Given the description of an element on the screen output the (x, y) to click on. 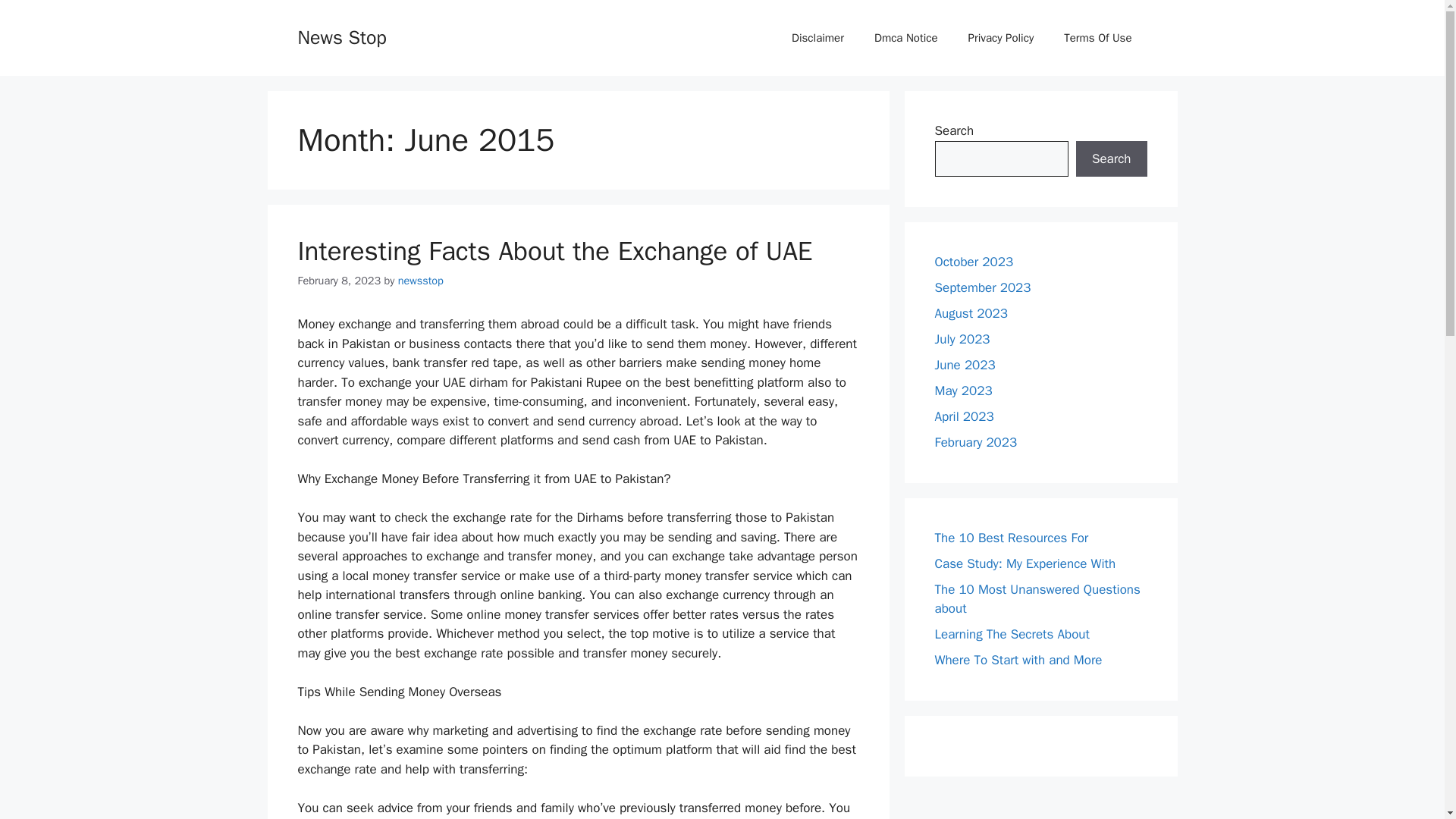
Case Study: My Experience With (1024, 562)
Privacy Policy (1001, 37)
Learning The Secrets About (1011, 634)
Disclaimer (817, 37)
September 2023 (982, 287)
June 2023 (964, 365)
newsstop (420, 280)
Search (1111, 158)
April 2023 (963, 416)
Where To Start with and More (1018, 659)
